Given the description of an element on the screen output the (x, y) to click on. 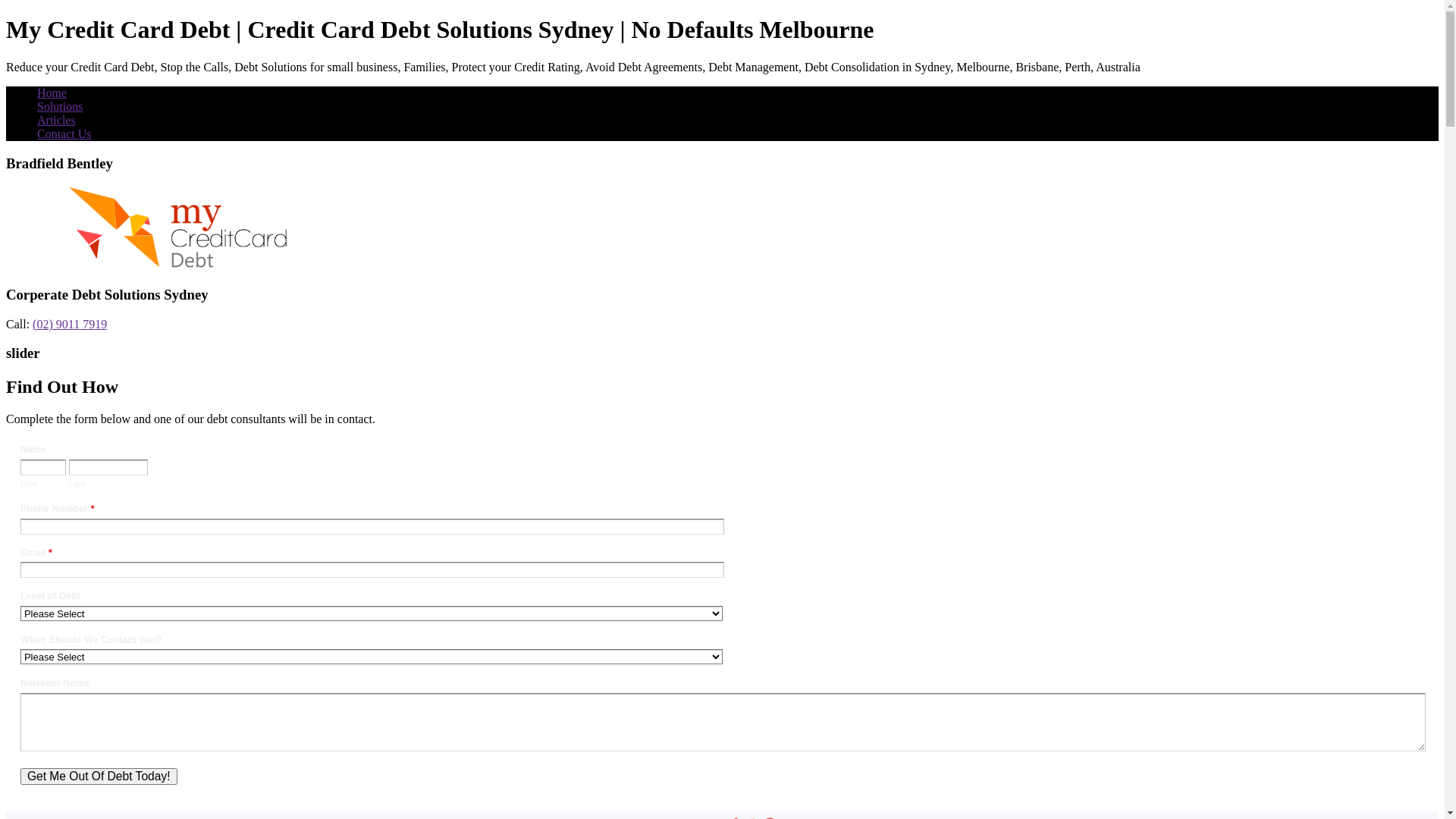
Contact Us Element type: text (64, 133)
Solutions Element type: text (59, 106)
(02) 9011 7919 Element type: text (69, 323)
Home Element type: text (51, 92)
Articles Element type: text (56, 119)
